Given the description of an element on the screen output the (x, y) to click on. 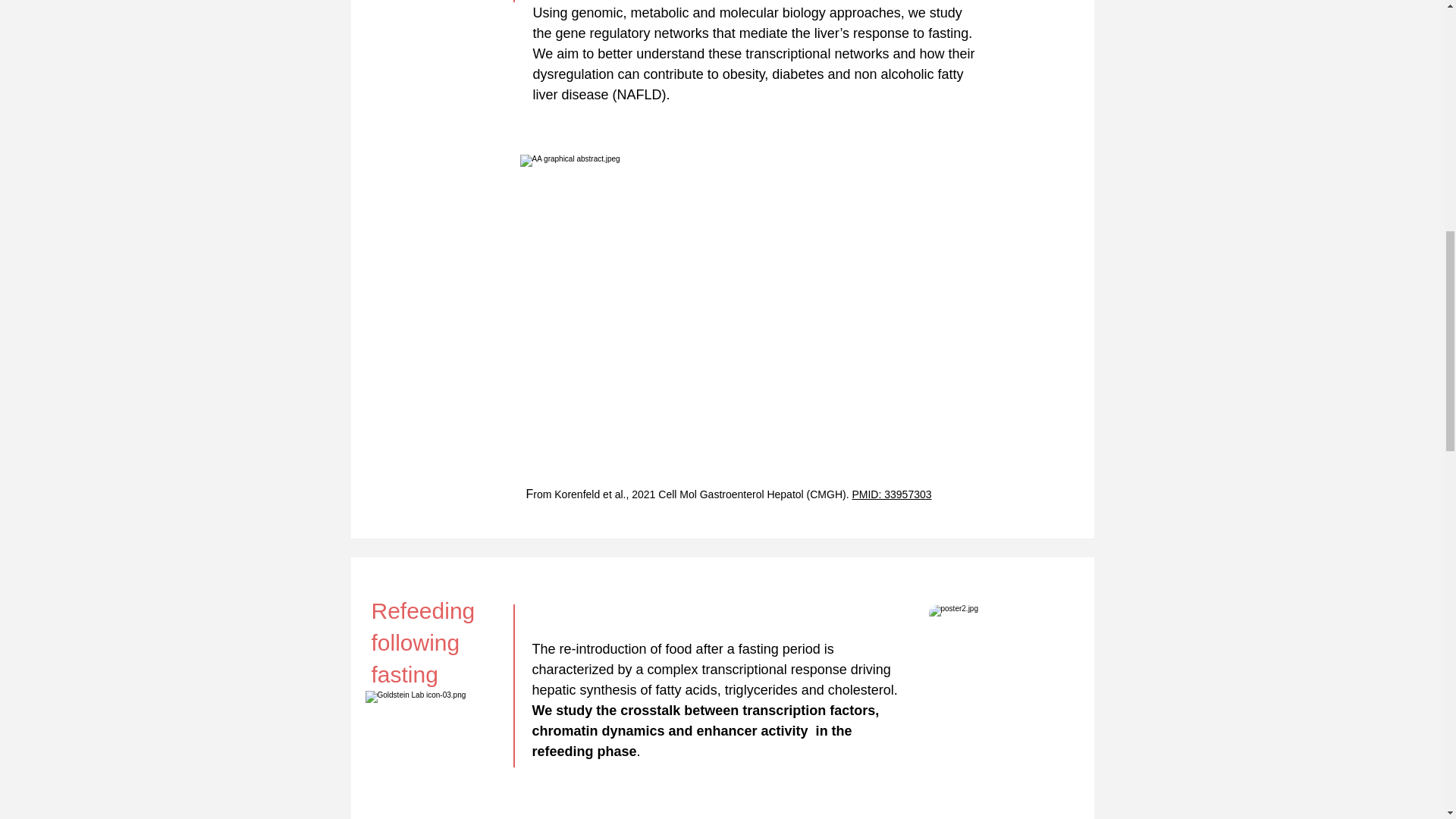
PMID: 33957303 (891, 494)
